Given the description of an element on the screen output the (x, y) to click on. 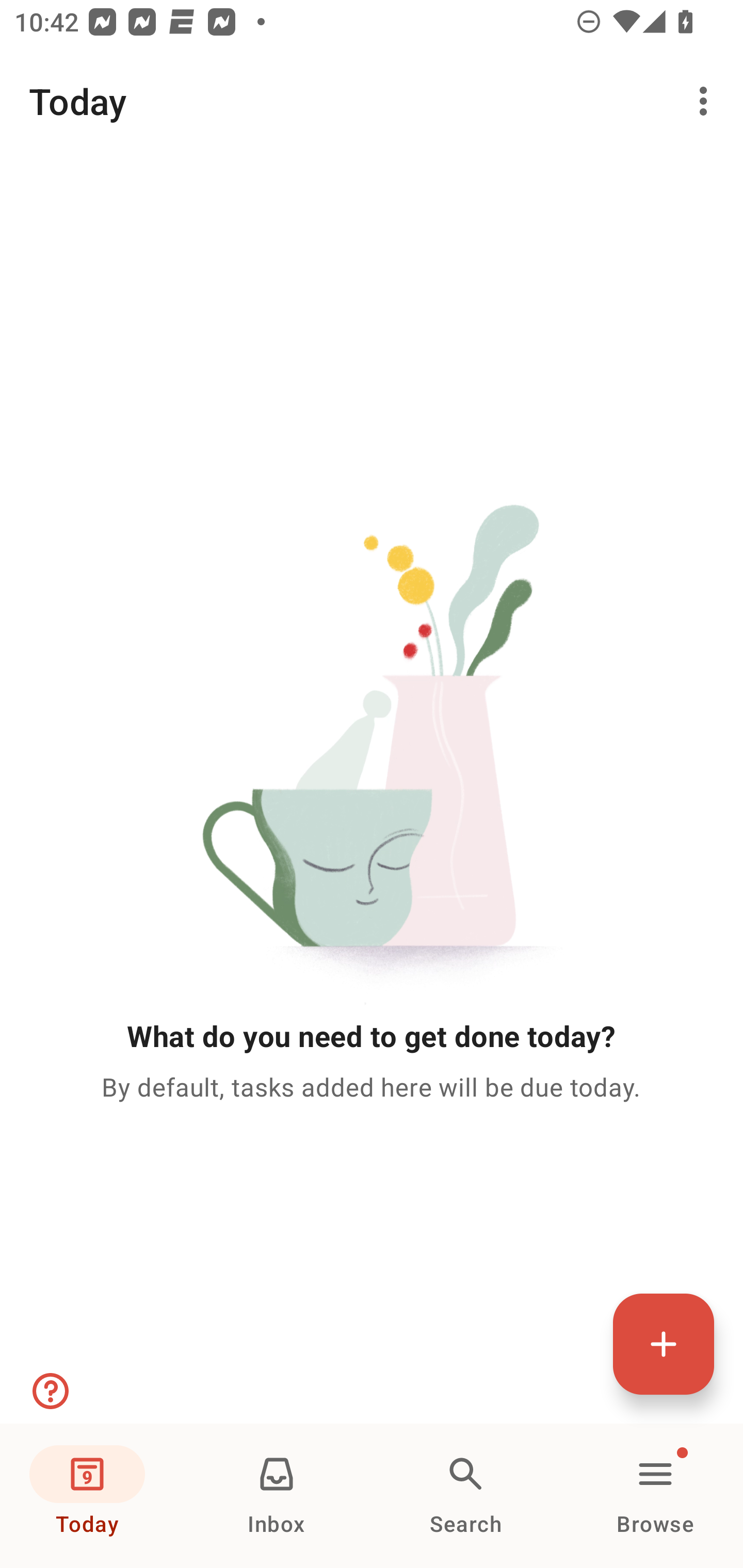
Today More options (371, 100)
More options (706, 101)
Quick add (663, 1343)
How to plan your day (48, 1390)
Inbox (276, 1495)
Search (465, 1495)
Browse (655, 1495)
